Given the description of an element on the screen output the (x, y) to click on. 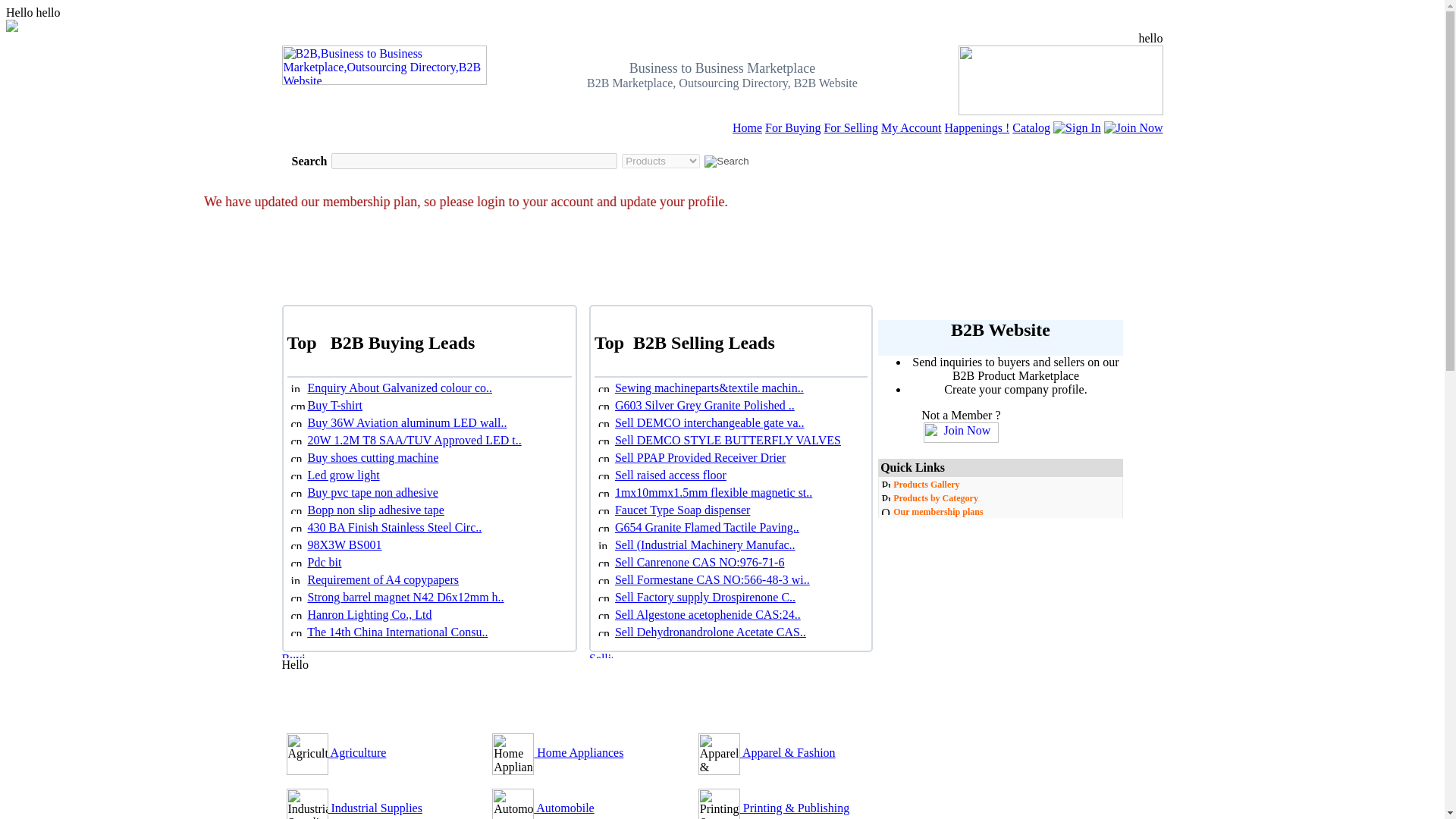
Home (746, 127)
Industrial Supplies (374, 807)
1mx10mmx1.5mm flexible magnetic st.. (713, 492)
Join Now (1133, 127)
For Selling (850, 127)
Sell raised access floor (670, 474)
Buy 36W Aviation aluminum LED wall.. (406, 422)
Home (746, 127)
Strong barrel magnet N42 D6x12mm h.. (405, 596)
Sell Algestone acetophenide CAS:24.. (707, 614)
Sell Factory supply Drospirenone C.. (704, 596)
430 BA Finish Stainless Steel Circ.. (394, 526)
Sell Formestane CAS NO:566-48-3 wi.. (711, 579)
Buy shoes cutting machine (373, 457)
Home Appliances (578, 752)
